Given the description of an element on the screen output the (x, y) to click on. 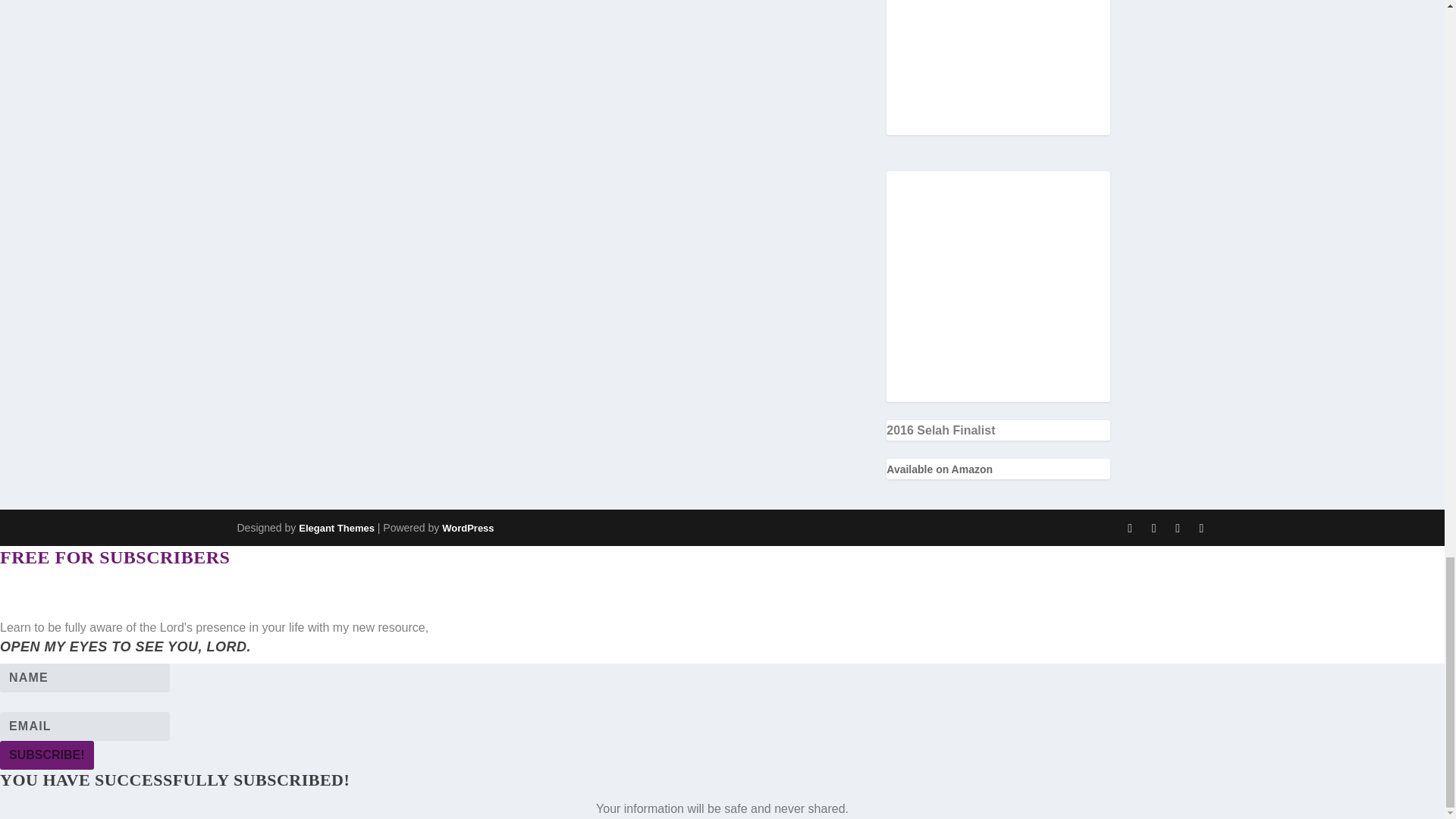
Elegant Themes (336, 527)
Available on Amazon (939, 469)
WordPress (467, 527)
Premium WordPress Themes (336, 527)
